Given the description of an element on the screen output the (x, y) to click on. 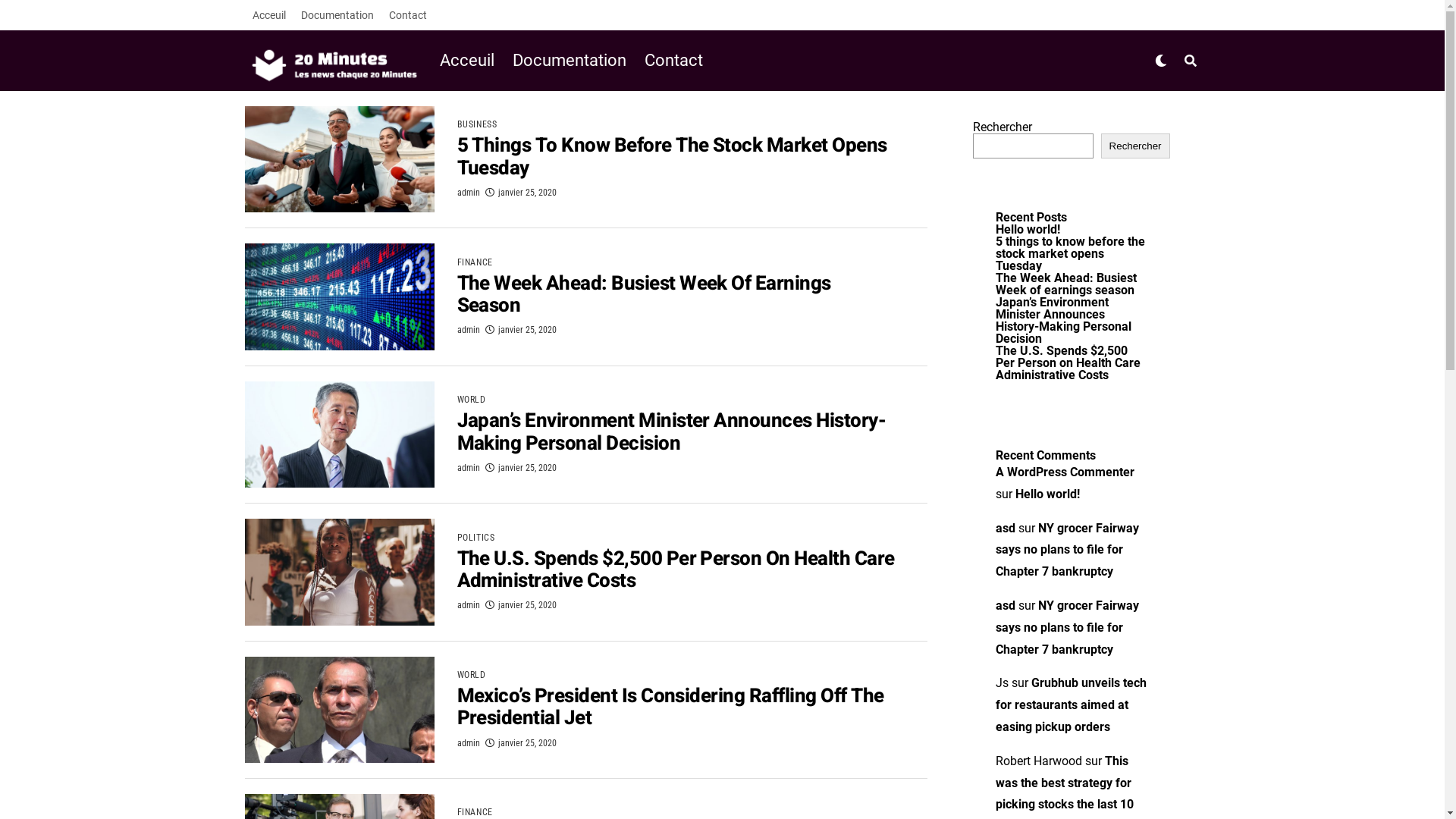
Hello world! Element type: text (1026, 229)
Acceuil Element type: text (470, 60)
Rechercher Element type: text (1135, 145)
admin Element type: text (467, 192)
Contact Element type: text (673, 60)
5 things to know before the stock market opens Tuesday Element type: text (1069, 253)
admin Element type: text (467, 329)
Documentation Element type: text (569, 60)
admin Element type: text (467, 604)
The Week Ahead: Busiest Week Of Earnings Season Element type: text (643, 296)
asd Element type: text (1004, 527)
Acceuil Element type: text (268, 15)
admin Element type: text (467, 467)
Hello world! Element type: text (1046, 493)
A WordPress Commenter Element type: text (1063, 471)
Contact Element type: text (406, 15)
The Week Ahead: Busiest Week of earnings season Element type: text (1064, 283)
admin Element type: text (467, 742)
5 Things To Know Before The Stock Market Opens Tuesday Element type: text (671, 158)
asd Element type: text (1004, 605)
Documentation Element type: text (336, 15)
